Given the description of an element on the screen output the (x, y) to click on. 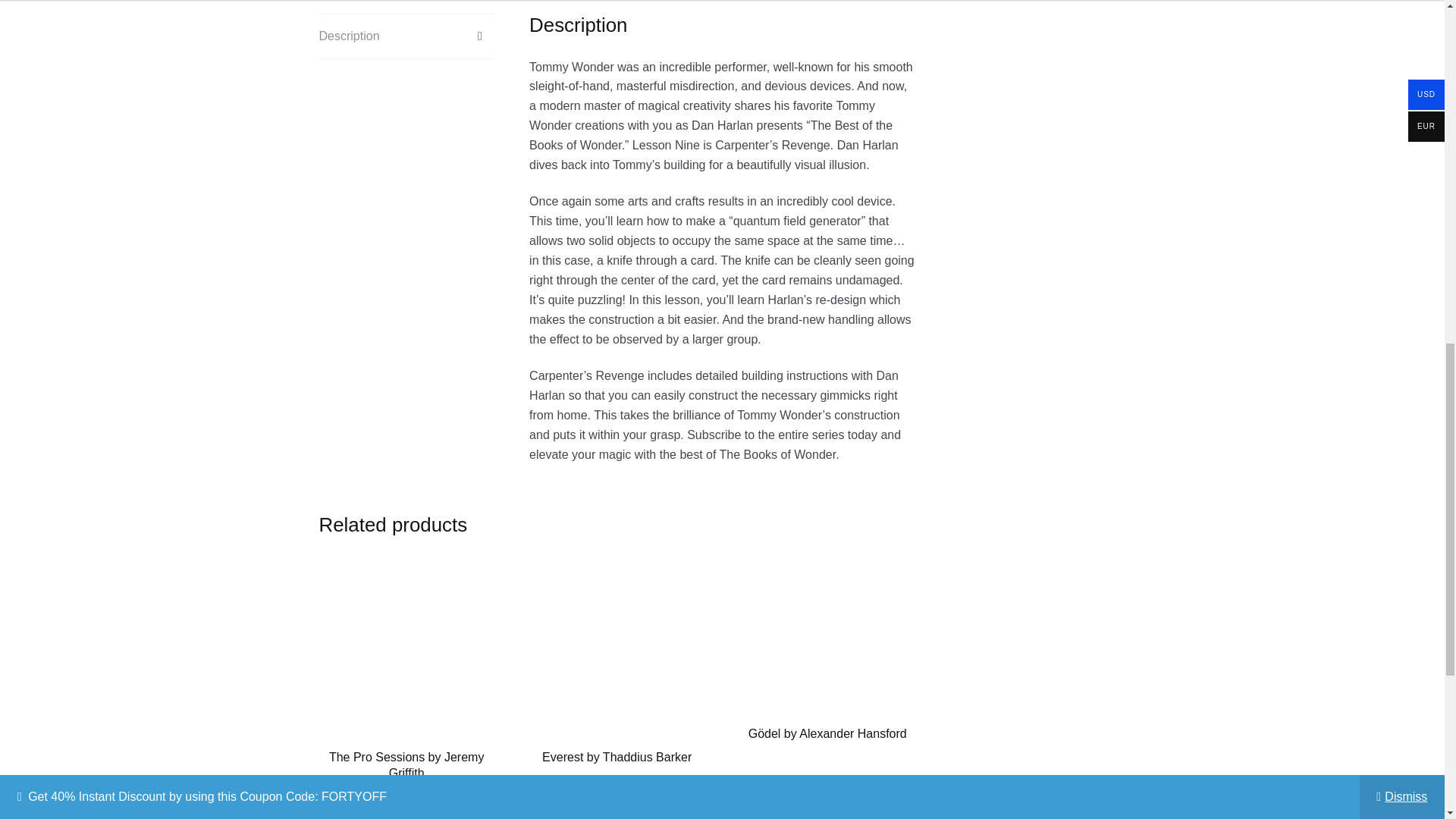
Add to cart (826, 814)
Description (406, 36)
